Given the description of an element on the screen output the (x, y) to click on. 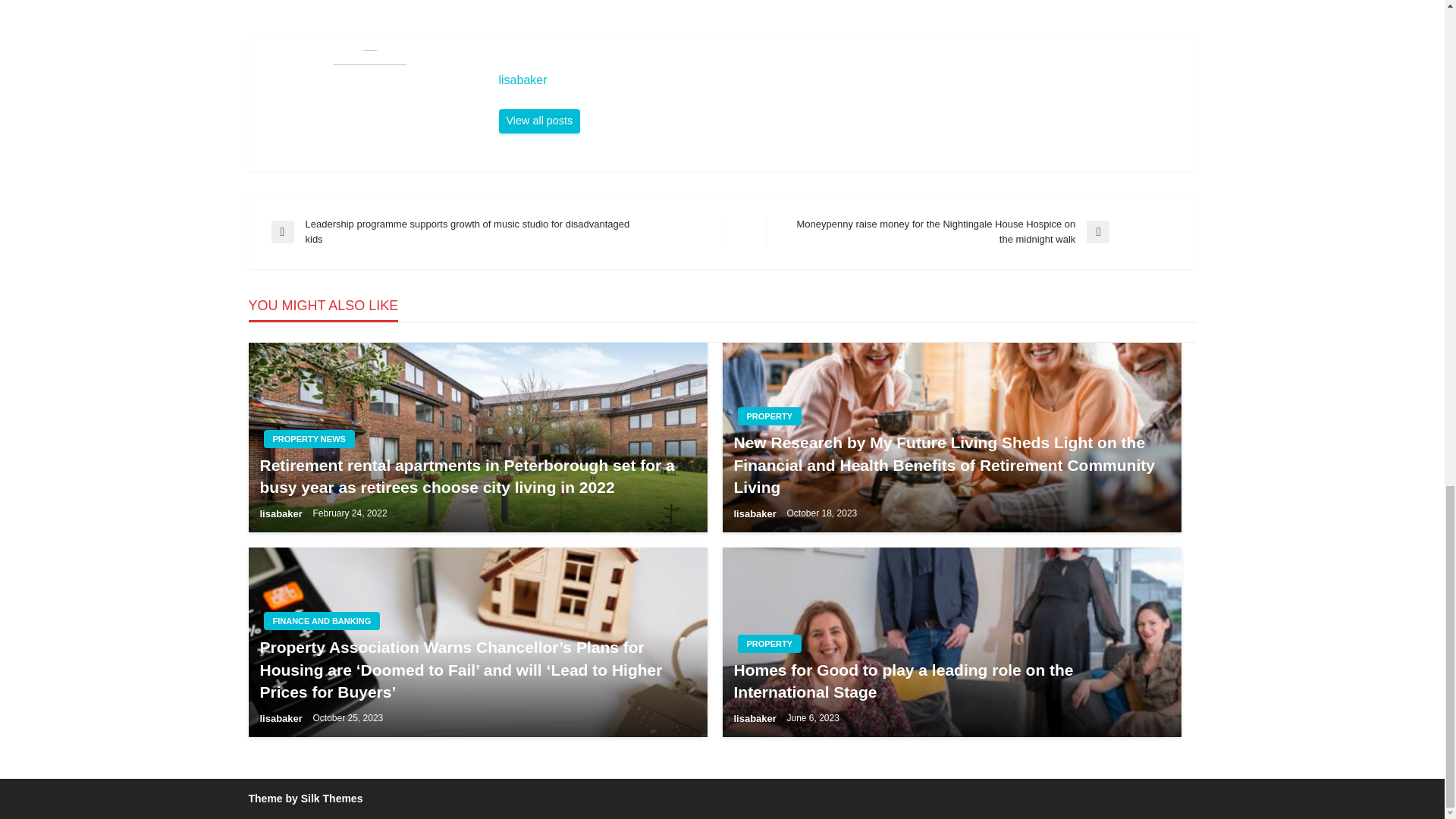
lisabaker (539, 120)
lisabaker (839, 79)
